Given the description of an element on the screen output the (x, y) to click on. 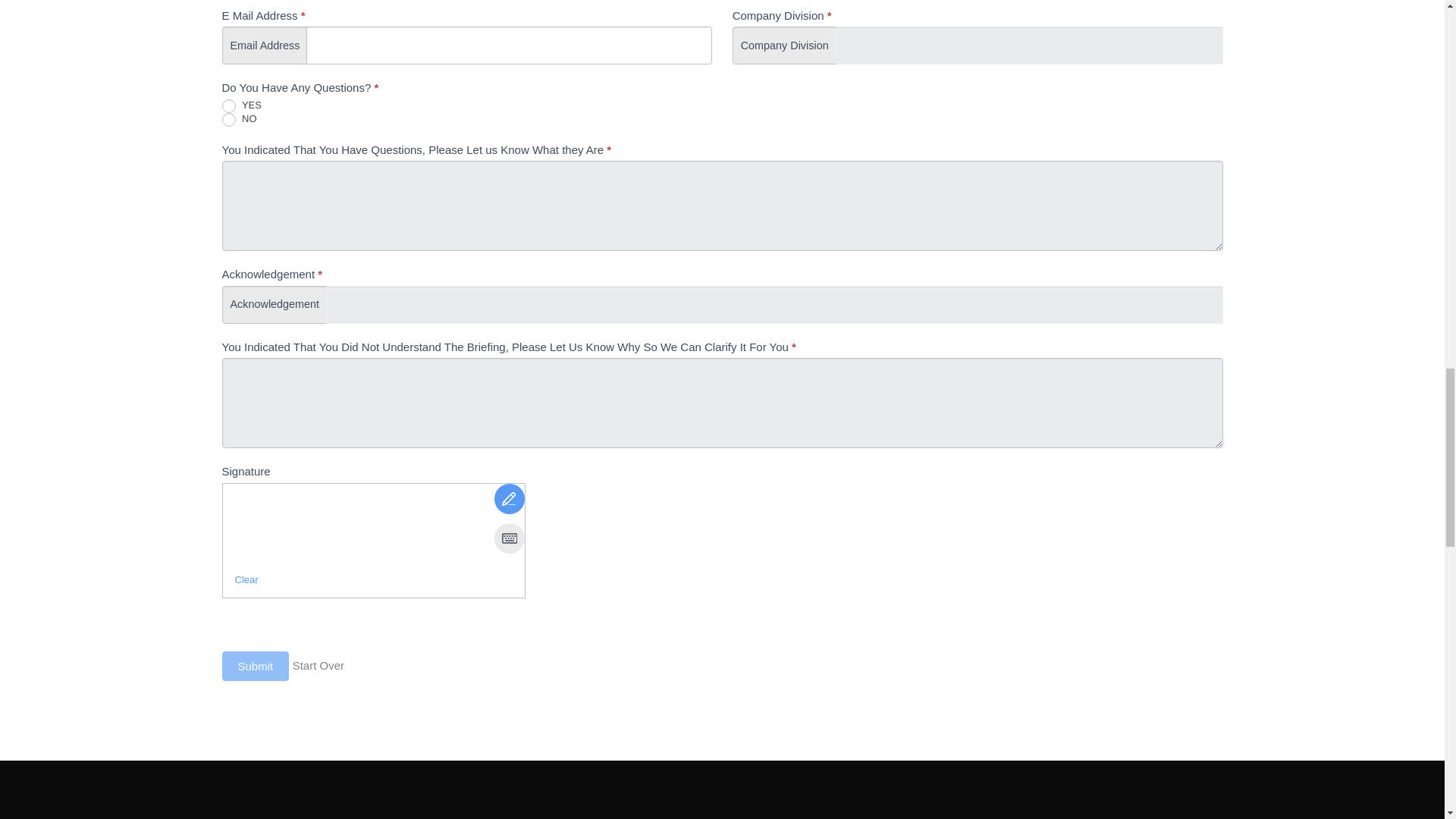
Clear (246, 579)
Type It (509, 538)
Draw It (509, 499)
NO (227, 119)
YES (227, 106)
Submit (254, 665)
Start Over (317, 665)
